Given the description of an element on the screen output the (x, y) to click on. 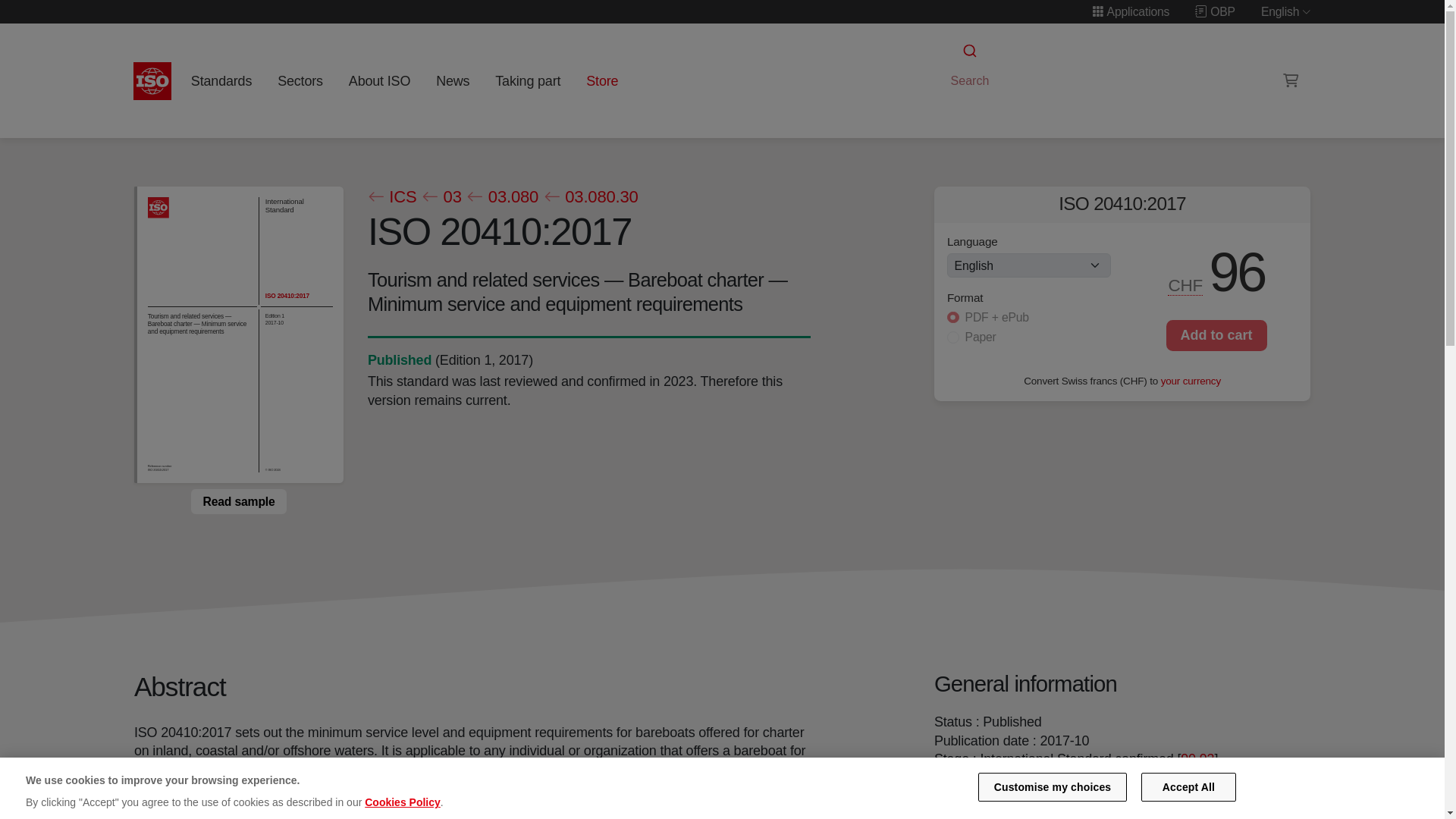
Online Browsing Platform (1214, 11)
your currency (1190, 379)
Standards (220, 80)
90.93 (1197, 758)
Sectors (300, 80)
News (452, 80)
Taking part (528, 80)
03.080 (501, 197)
Shopping cart (1290, 80)
Swiss francs (1186, 285)
